Given the description of an element on the screen output the (x, y) to click on. 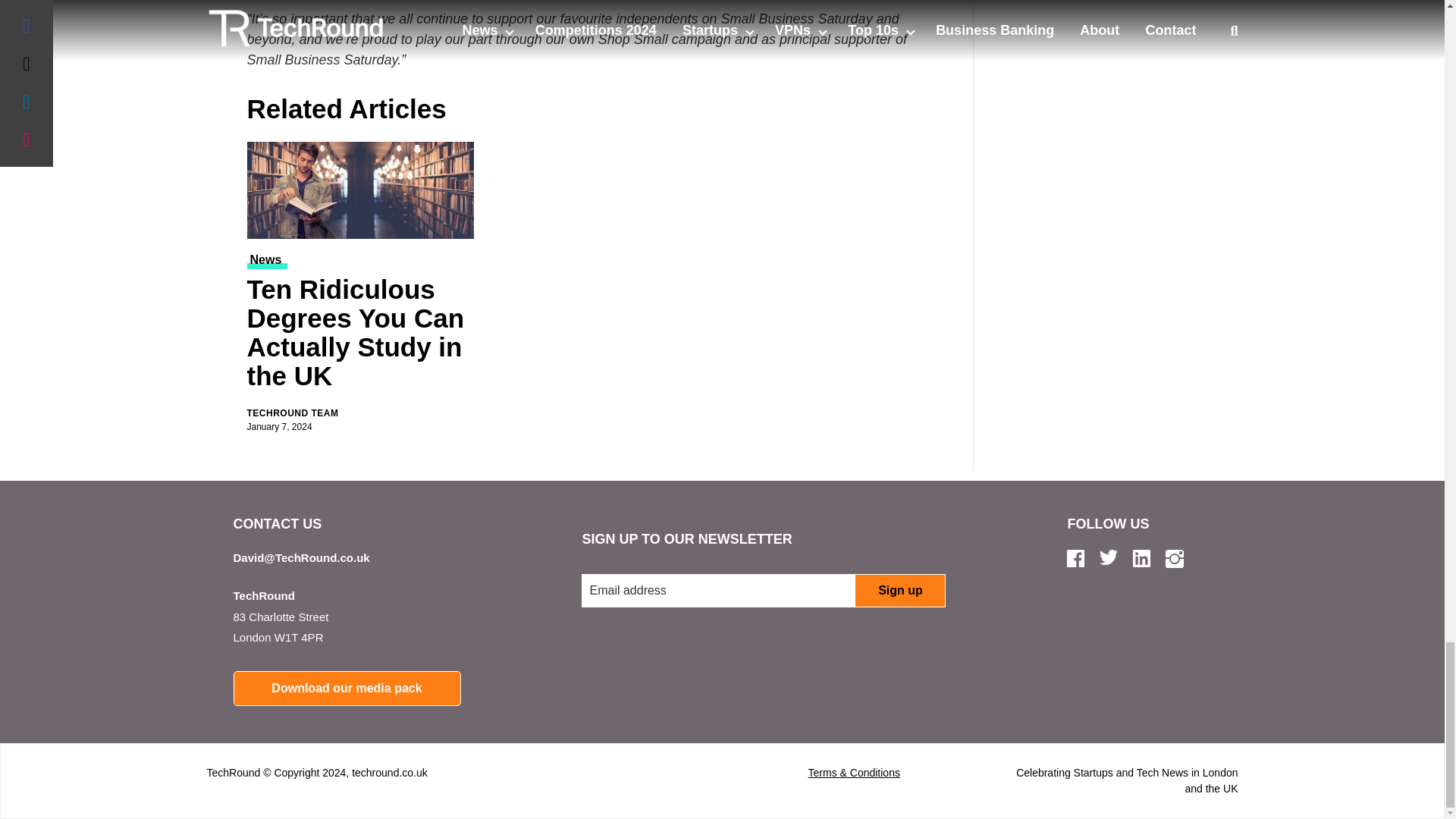
Ten Ridiculous Degrees You Can Actually Study in the UK (360, 335)
Ten Ridiculous Degrees You Can Actually Study in the UK (360, 190)
Sign up (899, 590)
